Given the description of an element on the screen output the (x, y) to click on. 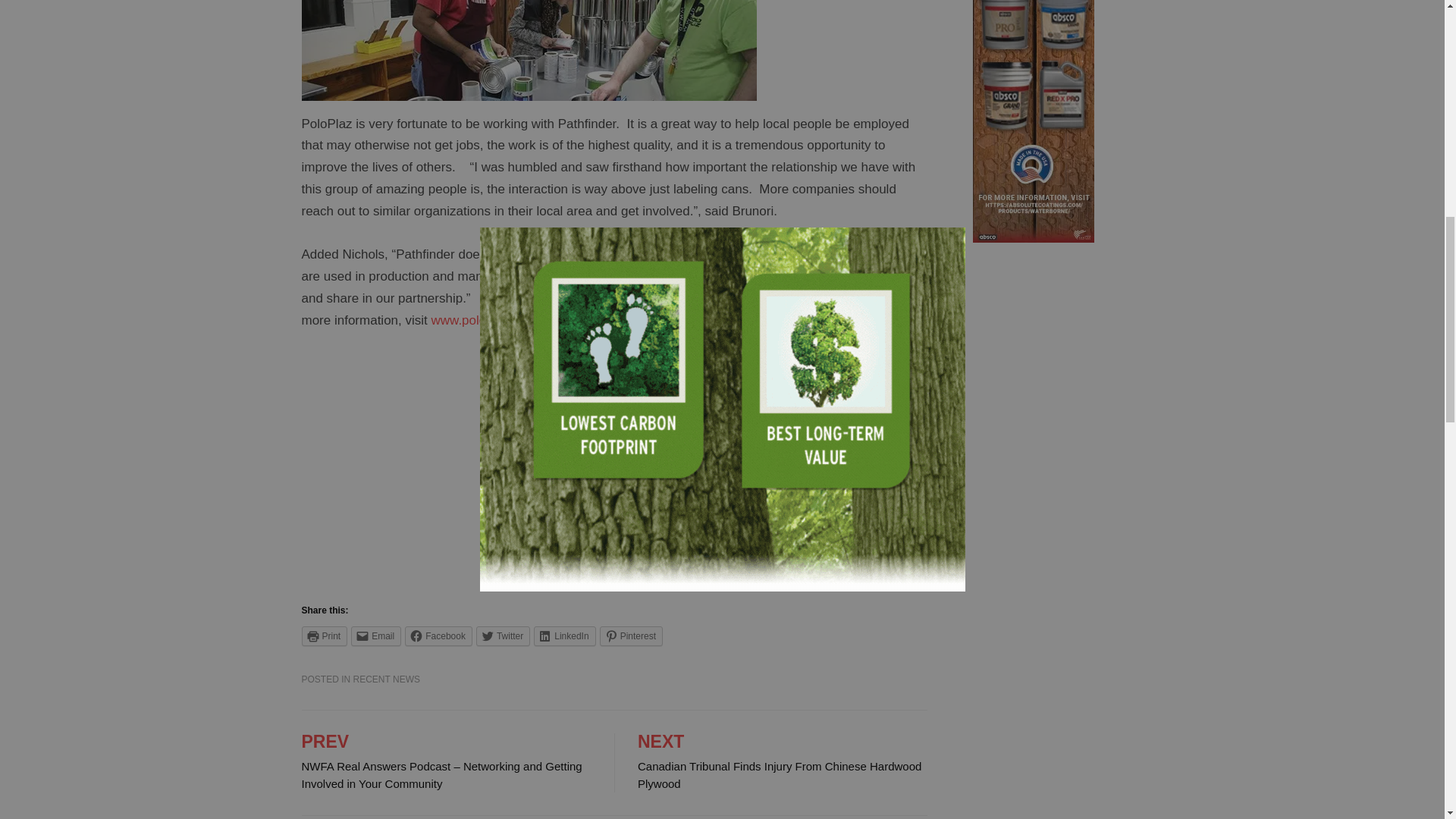
Click to share on LinkedIn (564, 636)
Click to share on Facebook (437, 636)
Click to email a link to a friend (375, 636)
Click to print (324, 636)
Click to share on Pinterest (630, 636)
Click to share on Twitter (502, 636)
